Given the description of an element on the screen output the (x, y) to click on. 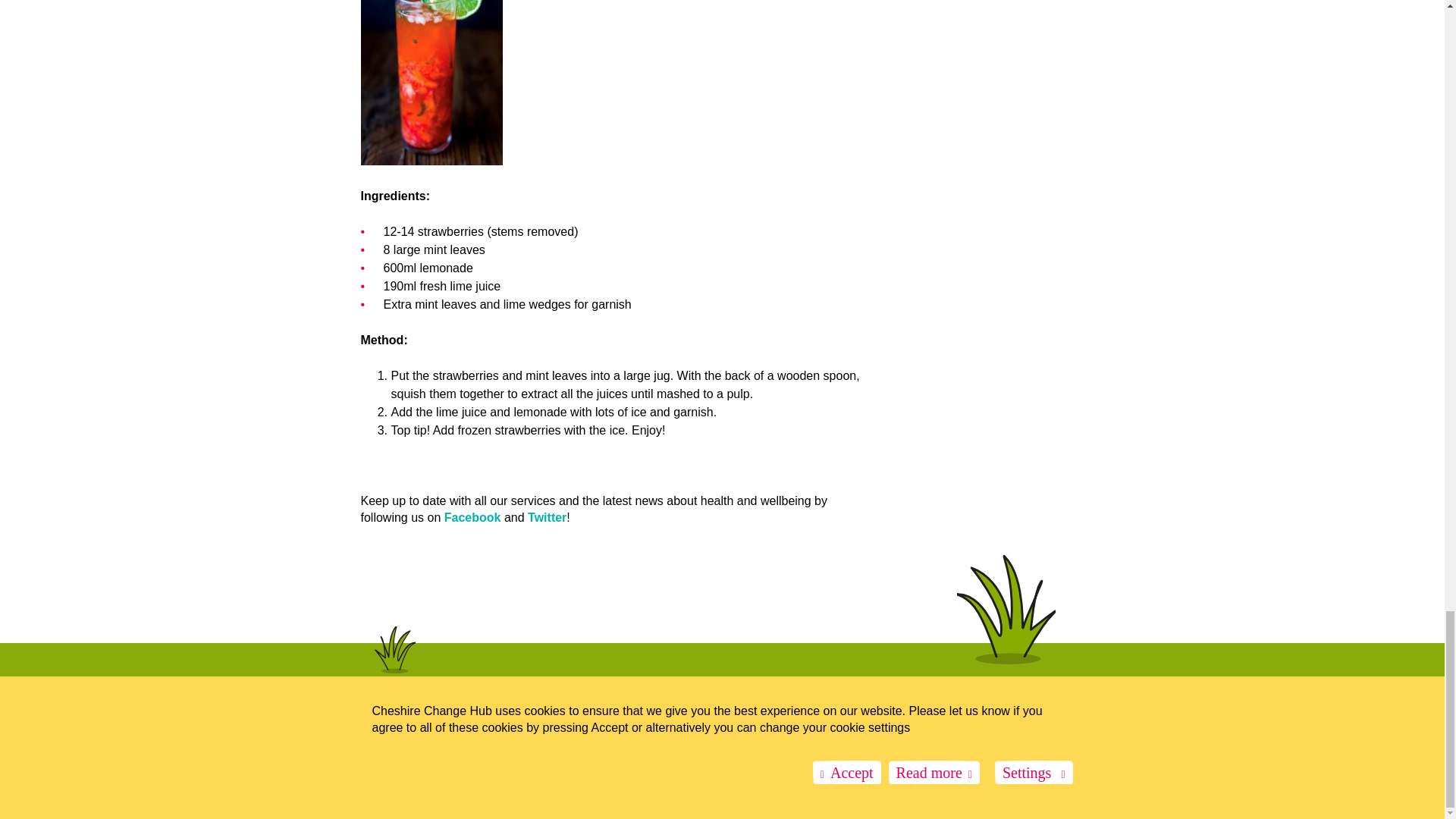
Facebook (472, 517)
Twitter (546, 517)
Website terms of use (445, 741)
Partners (378, 741)
Accessibility Policy (596, 741)
Privacy Policy (523, 741)
